Given the description of an element on the screen output the (x, y) to click on. 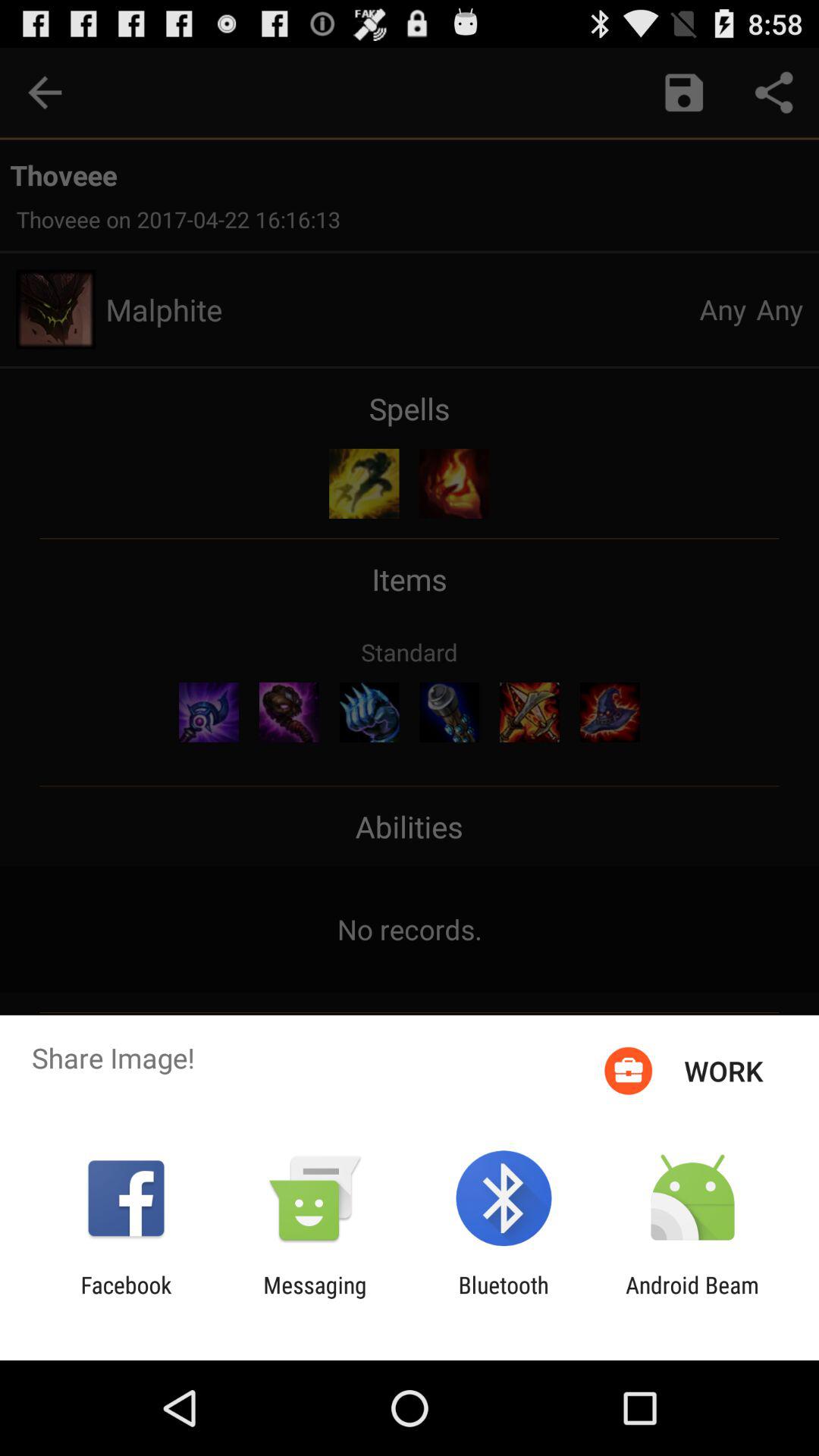
open app next to bluetooth item (692, 1298)
